Given the description of an element on the screen output the (x, y) to click on. 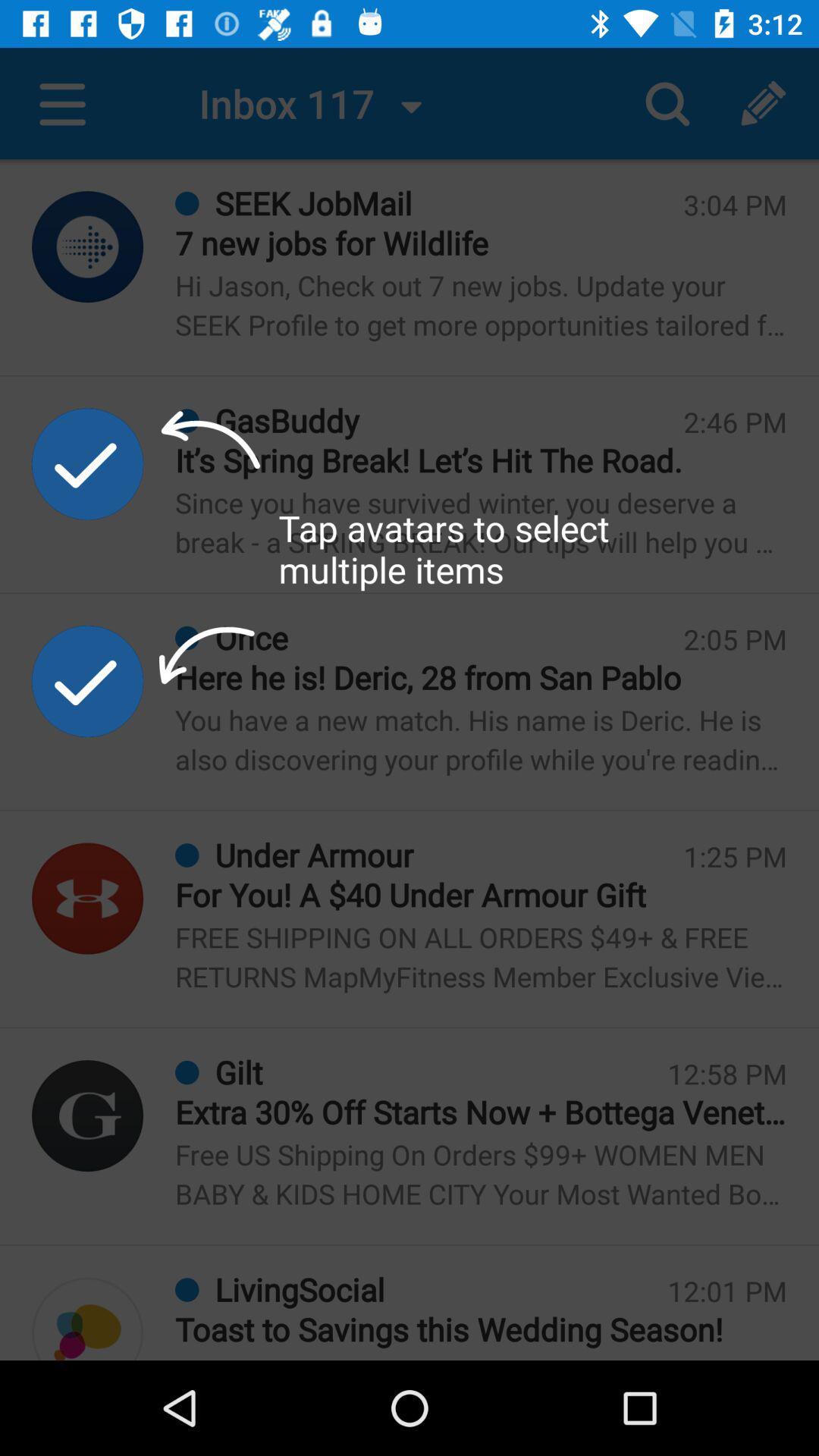
tap to select (87, 463)
